Given the description of an element on the screen output the (x, y) to click on. 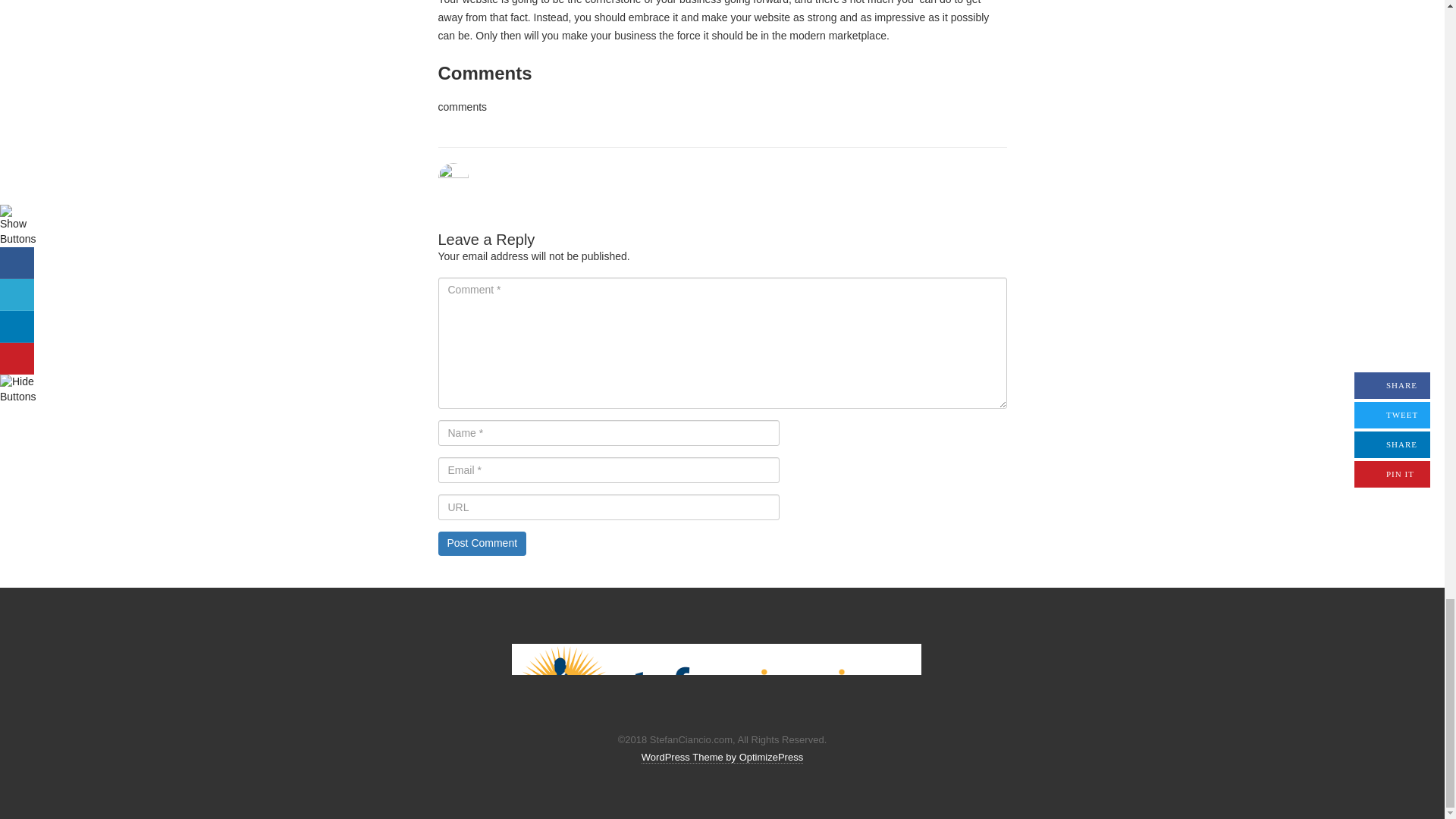
Post Comment (482, 543)
Post Comment (482, 543)
Stefan Ciancio (716, 681)
WordPress Theme by OptimizePress (722, 757)
